Given the description of an element on the screen output the (x, y) to click on. 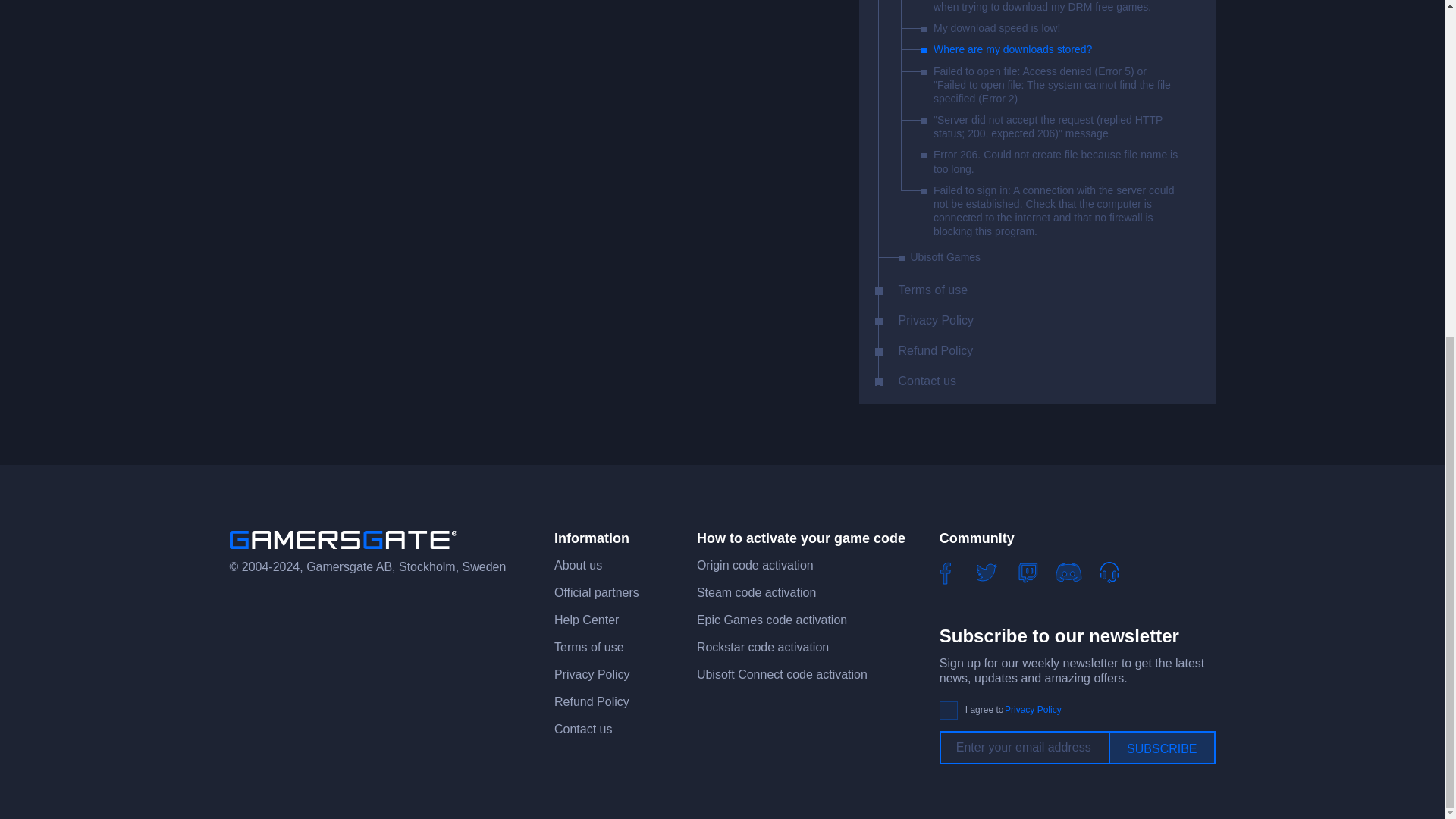
Where are my downloads stored? (1012, 49)
Subscribe (1161, 747)
My download speed is low! (996, 28)
